Given the description of an element on the screen output the (x, y) to click on. 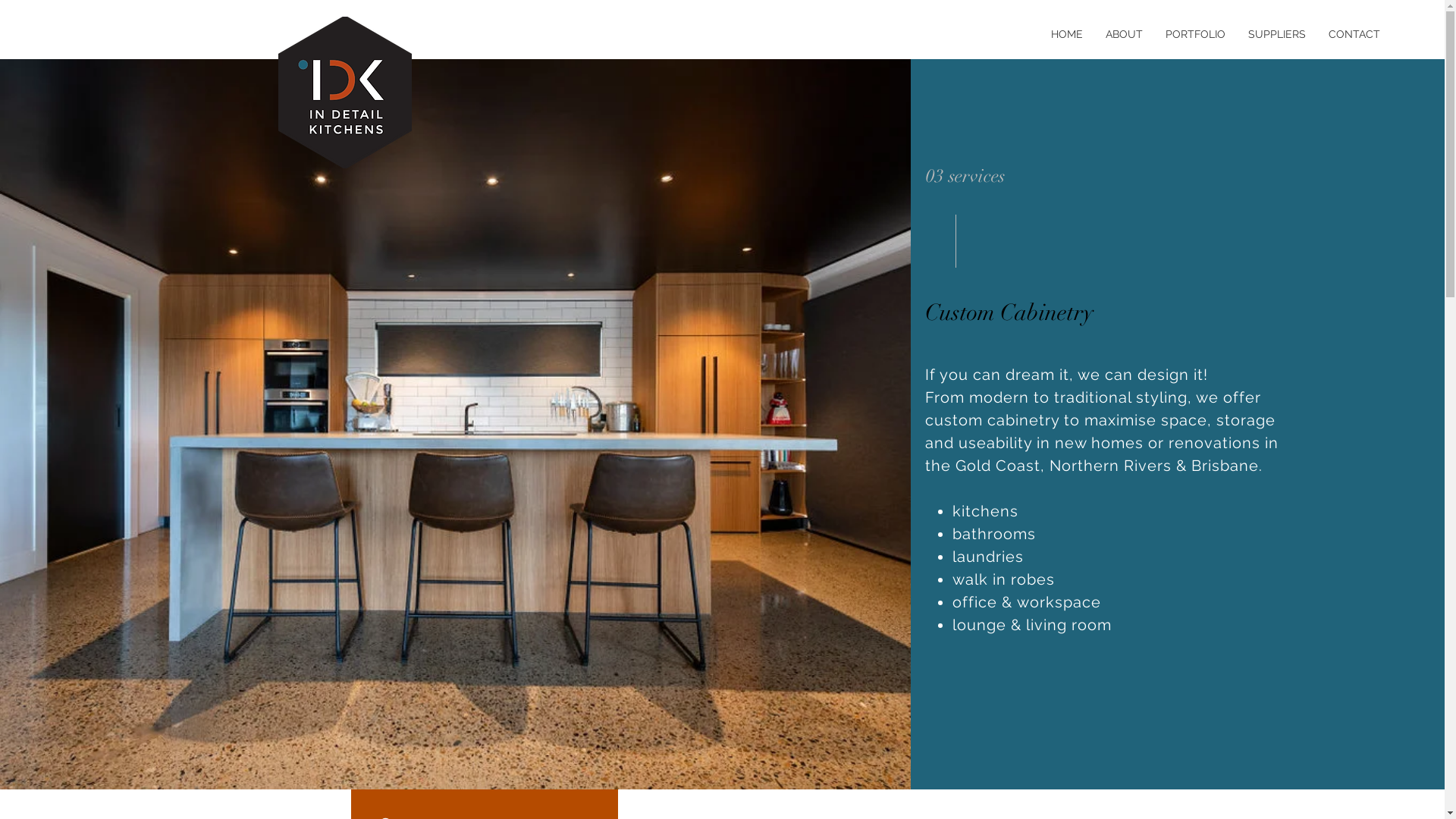
HOME Element type: text (1066, 34)
PORTFOLIO Element type: text (1195, 34)
SUPPLIERS Element type: text (1276, 34)
CONTACT Element type: text (1354, 34)
ABOUT Element type: text (1124, 34)
